Given the description of an element on the screen output the (x, y) to click on. 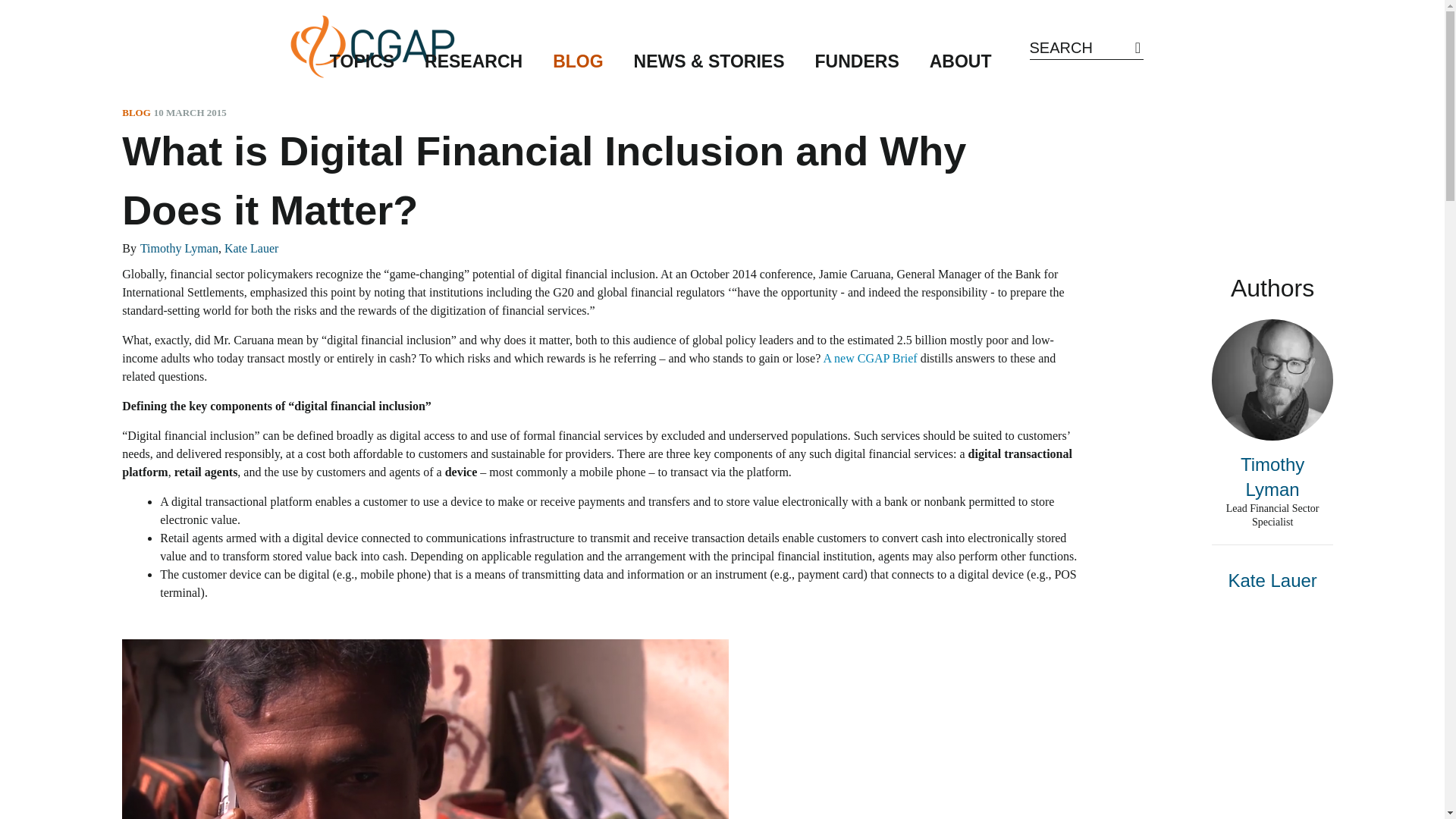
Search (1137, 46)
Home (371, 46)
TOPICS (361, 68)
RESEARCH (473, 68)
BLOG (577, 68)
